Given the description of an element on the screen output the (x, y) to click on. 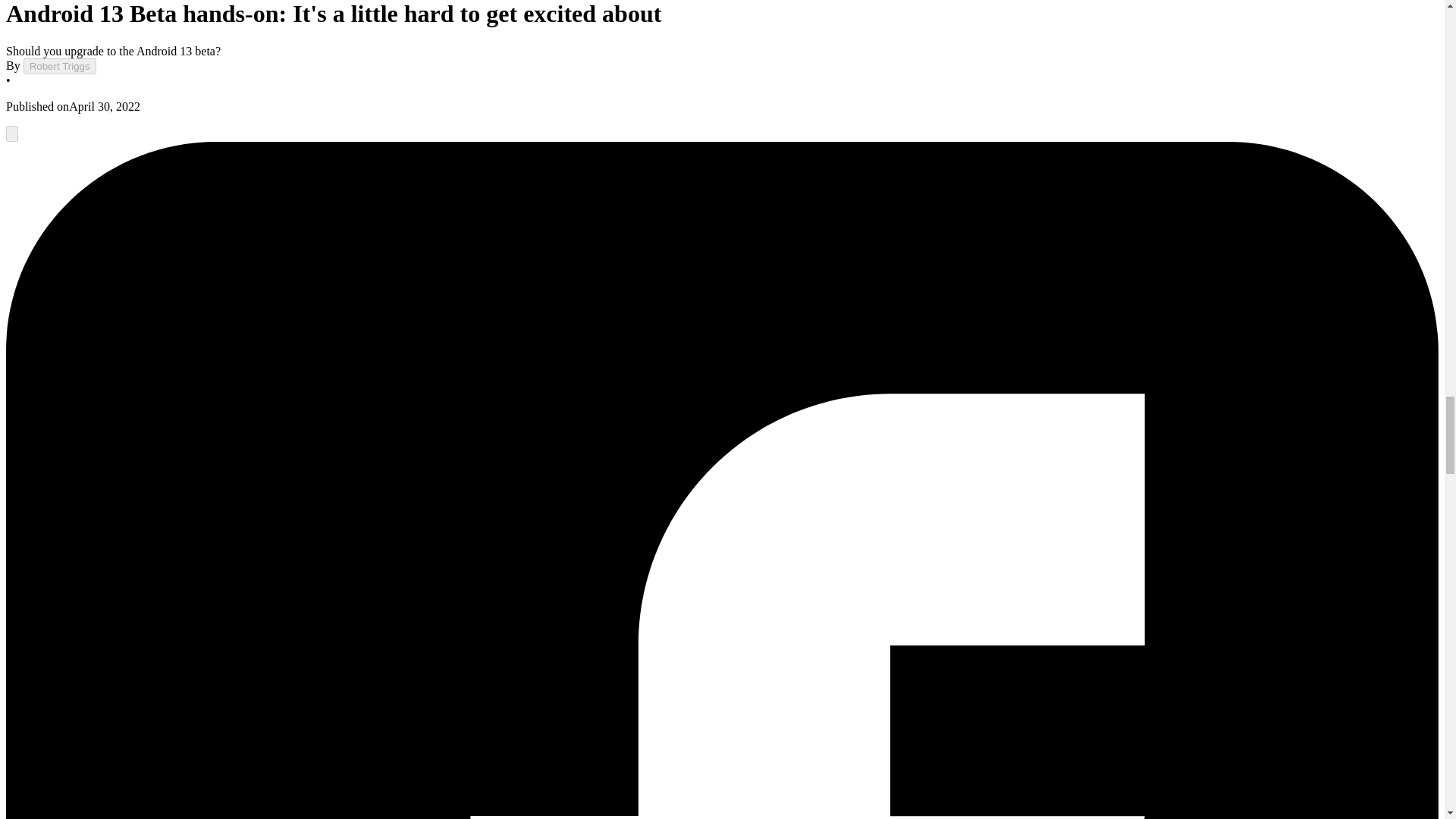
Robert Triggs (59, 66)
